Given the description of an element on the screen output the (x, y) to click on. 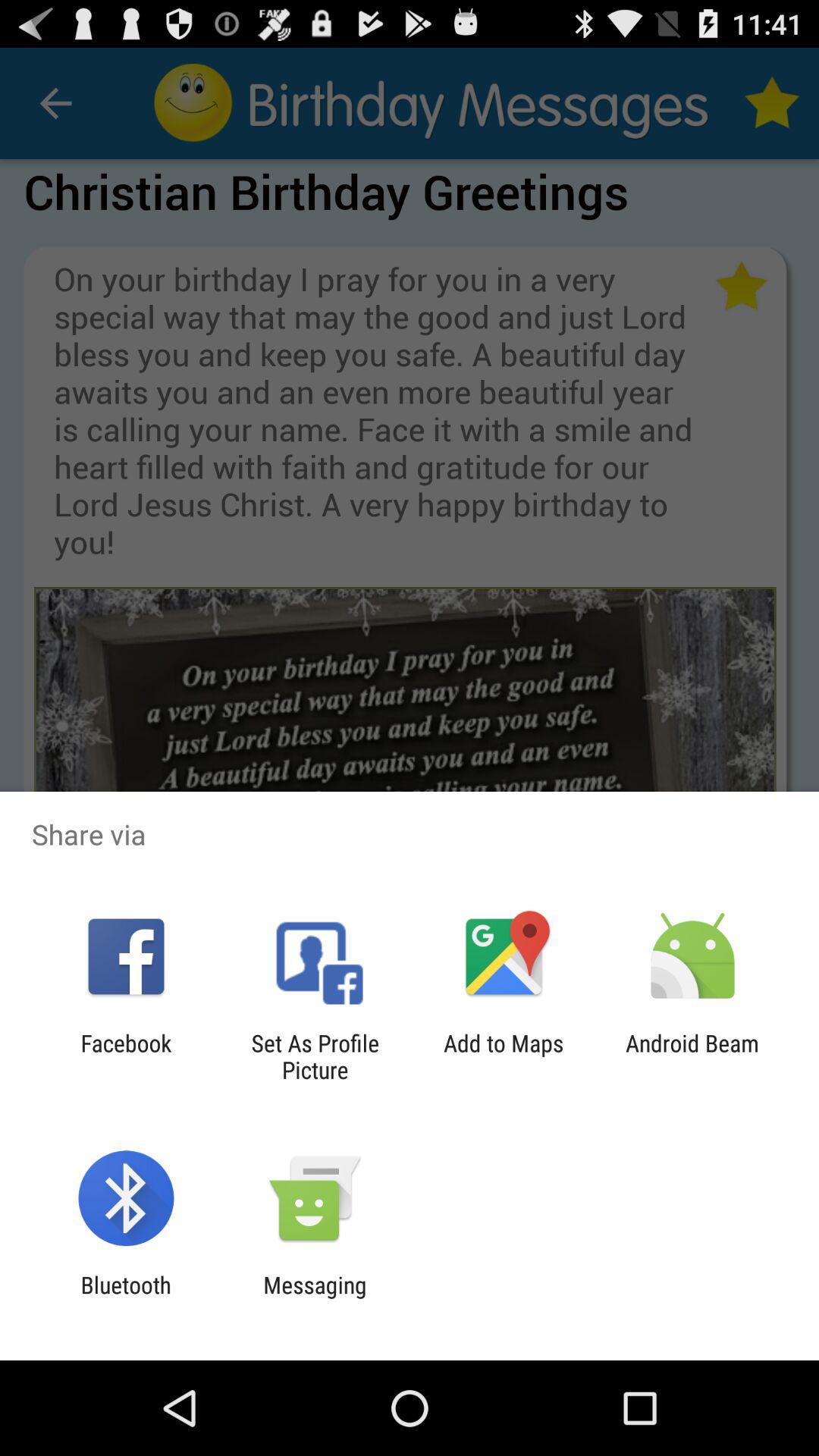
flip to the add to maps (503, 1056)
